Given the description of an element on the screen output the (x, y) to click on. 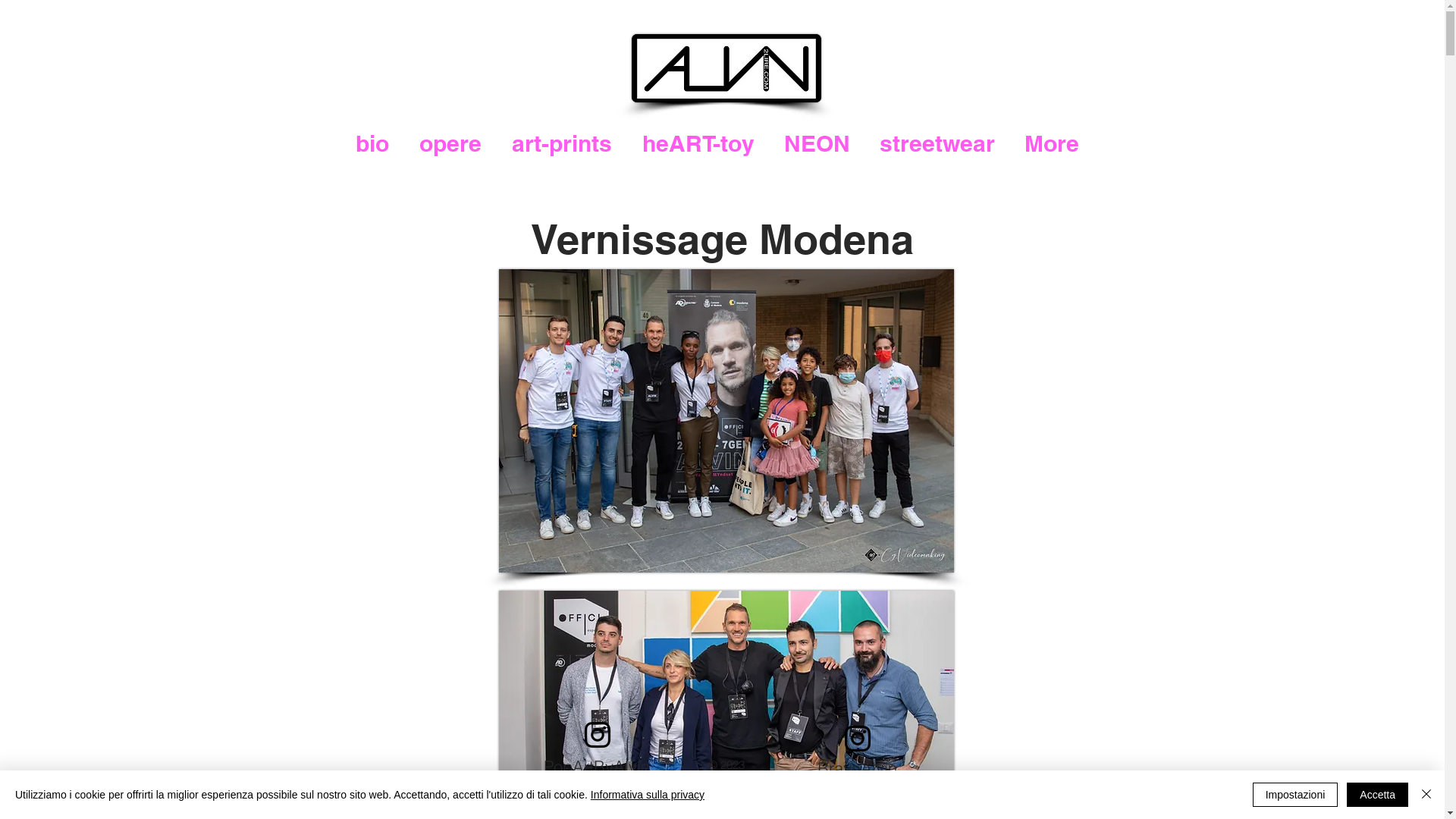
streetwear Element type: text (936, 143)
Informativa sulla privacy Element type: text (647, 794)
Impostazioni Element type: text (1295, 794)
BravoAlvin Element type: text (857, 768)
art-prints Element type: text (560, 143)
opere Element type: text (449, 143)
PopArtByAlvin Element type: text (596, 766)
Accetta Element type: text (1377, 794)
heART-toy Element type: text (697, 143)
info@2lire.com Element type: text (725, 781)
bio Element type: text (371, 143)
NEON Element type: text (816, 143)
